Given the description of an element on the screen output the (x, y) to click on. 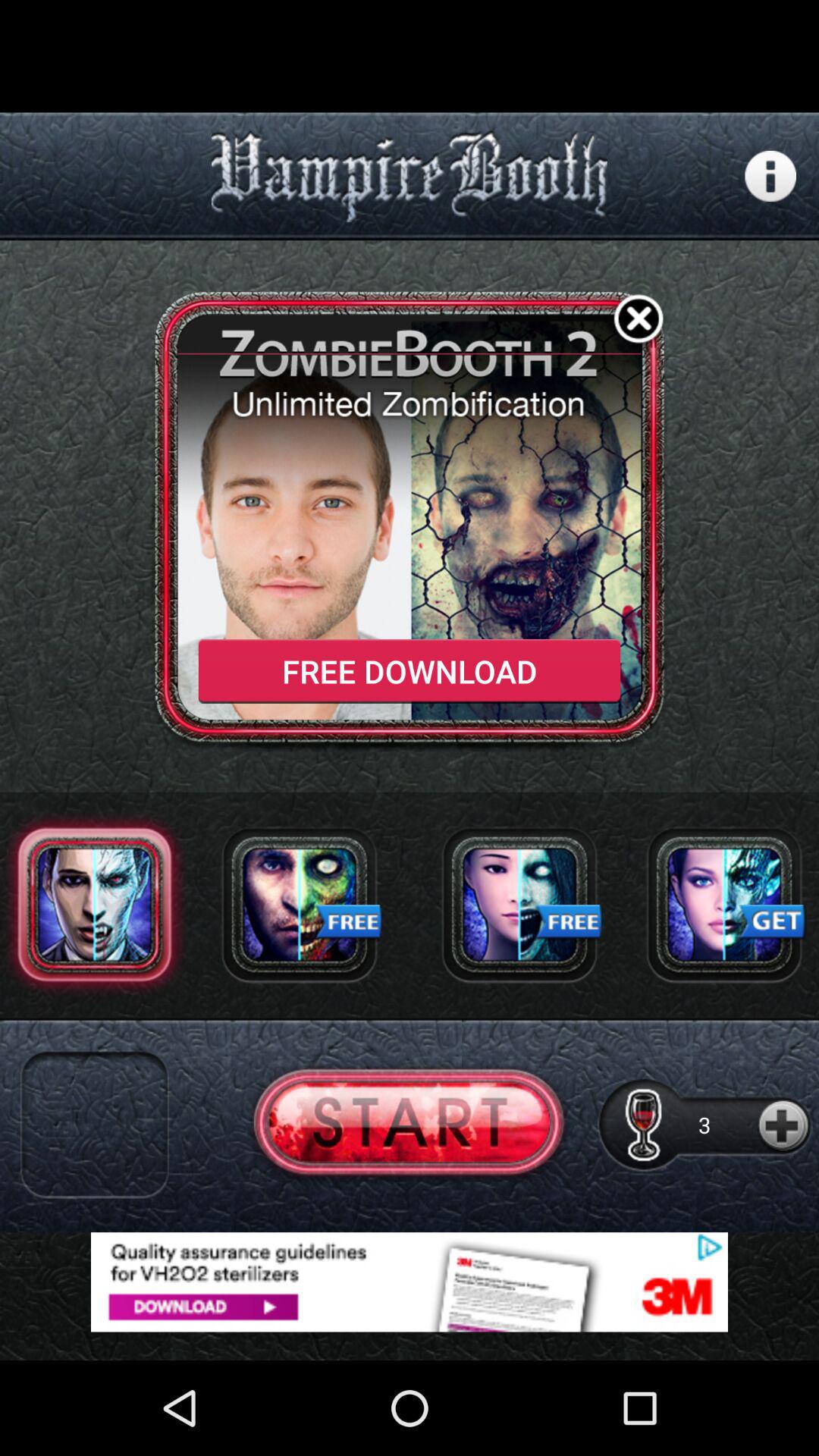
close button (638, 321)
